Given the description of an element on the screen output the (x, y) to click on. 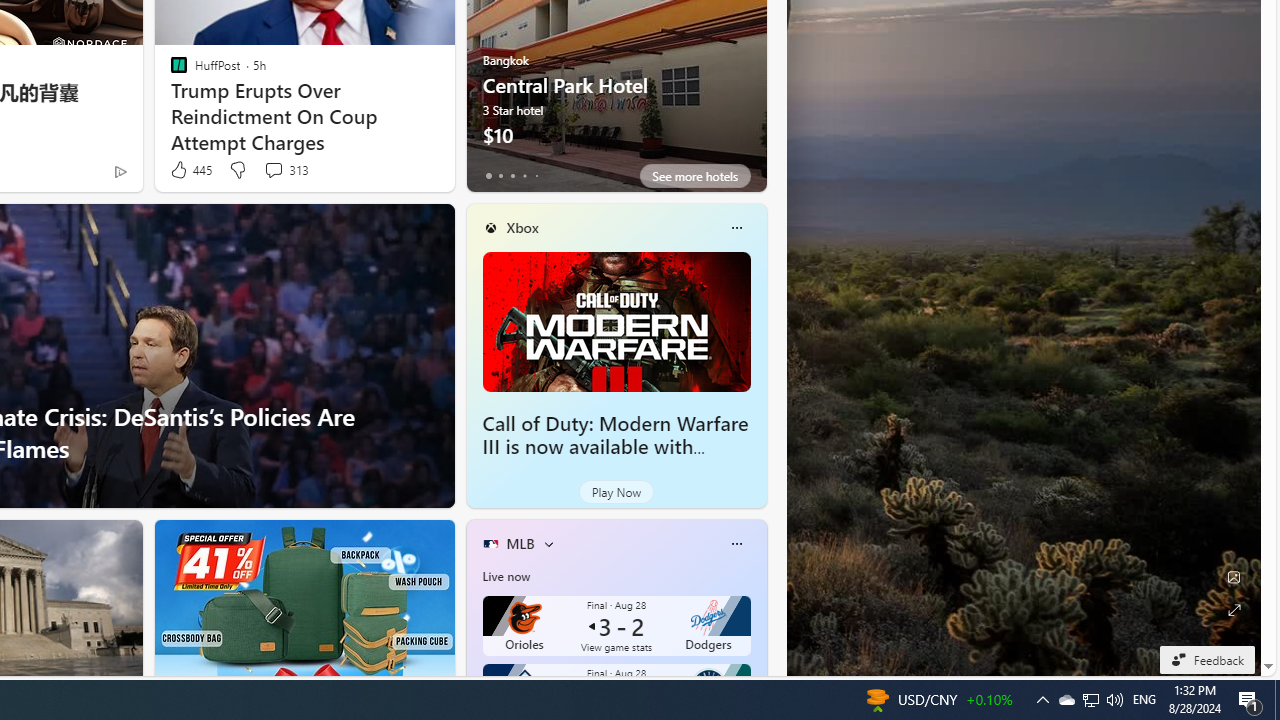
See more hotels (694, 175)
tab-2 (511, 175)
tab-1 (500, 175)
MLB (520, 543)
View comments 313 Comment (273, 169)
Ad Choice (119, 171)
tab-4 (535, 175)
View comments 313 Comment (285, 170)
tab-0 (488, 175)
Play Now (616, 491)
Dislike (237, 170)
More options (736, 543)
Expand background (1233, 610)
